Given the description of an element on the screen output the (x, y) to click on. 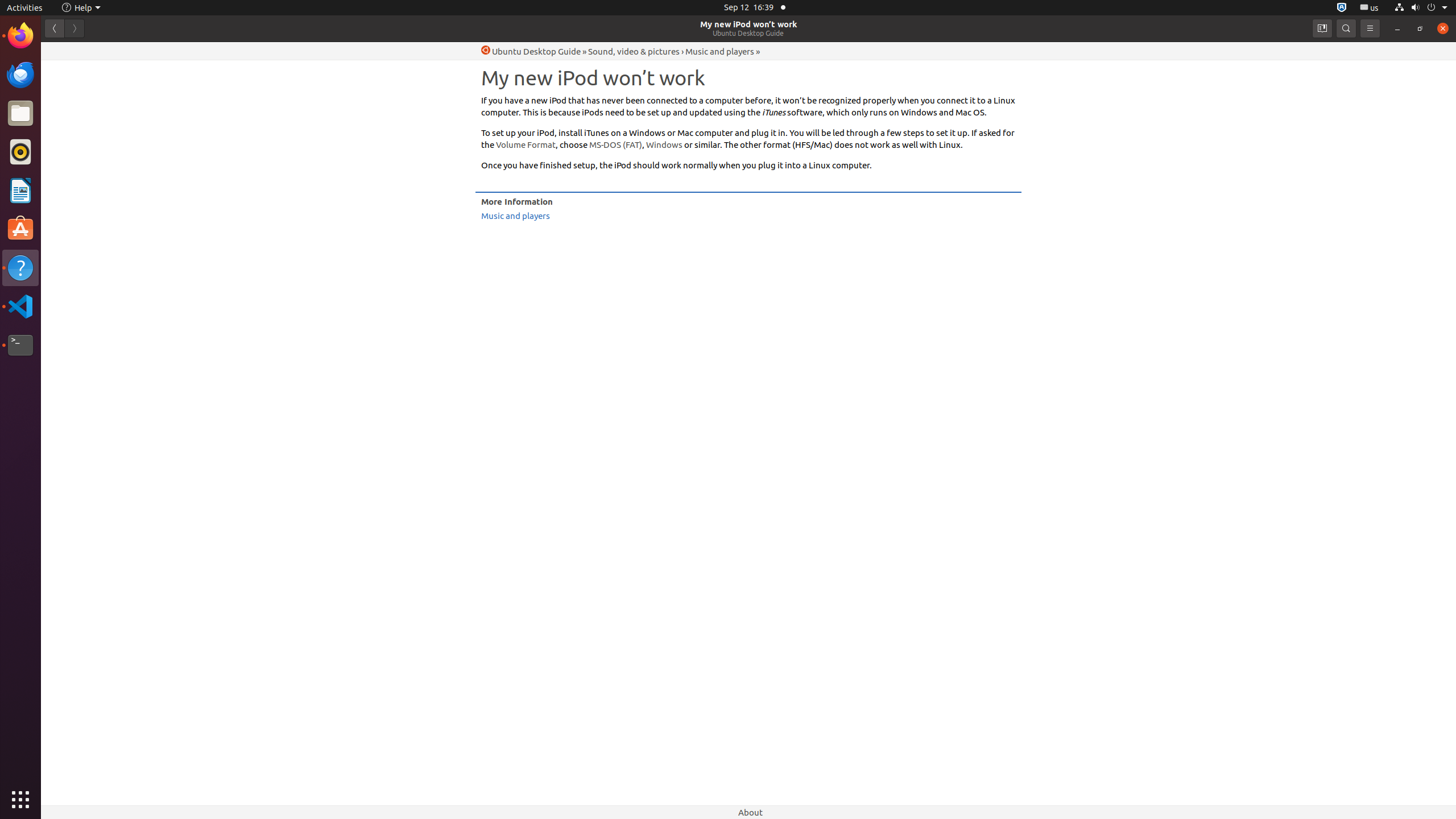
Sound, video & pictures Element type: link (633, 51)
luyi1 Element type: label (75, 50)
